Given the description of an element on the screen output the (x, y) to click on. 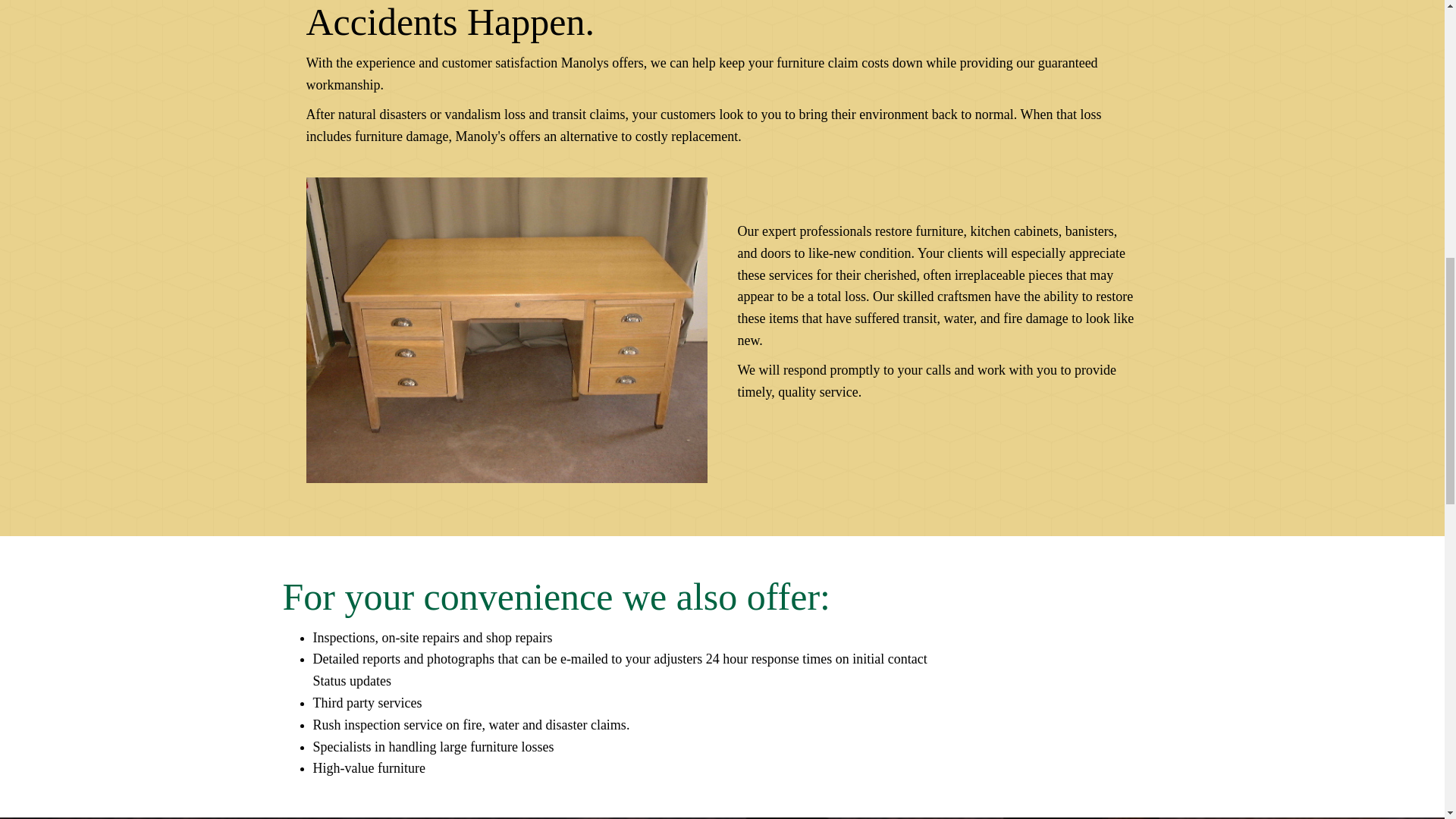
Ronafterdsk (506, 329)
